Given the description of an element on the screen output the (x, y) to click on. 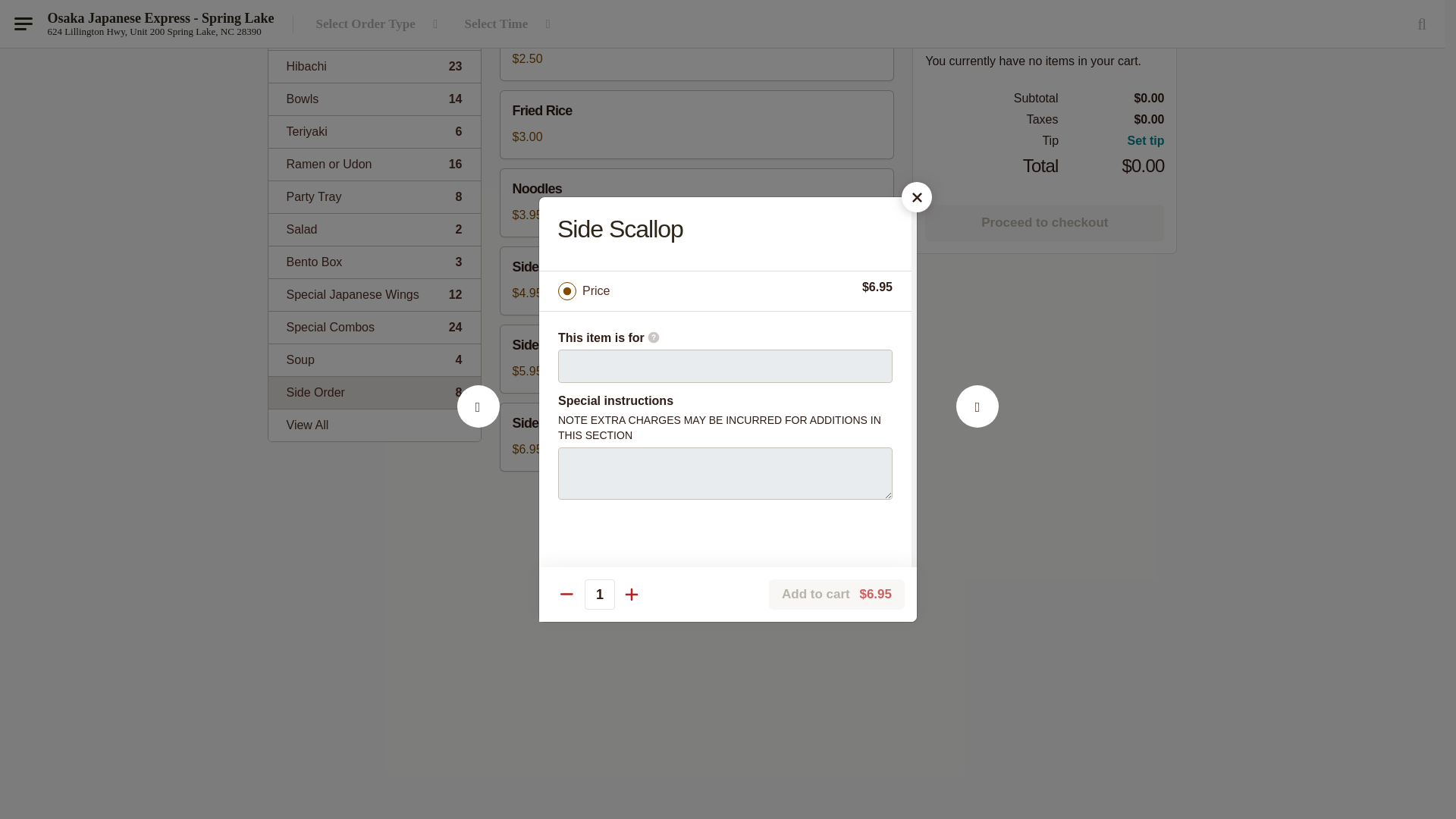
Proceed to checkout (373, 359)
Side Filet Mignon (373, 261)
Side Steak (373, 327)
